Given the description of an element on the screen output the (x, y) to click on. 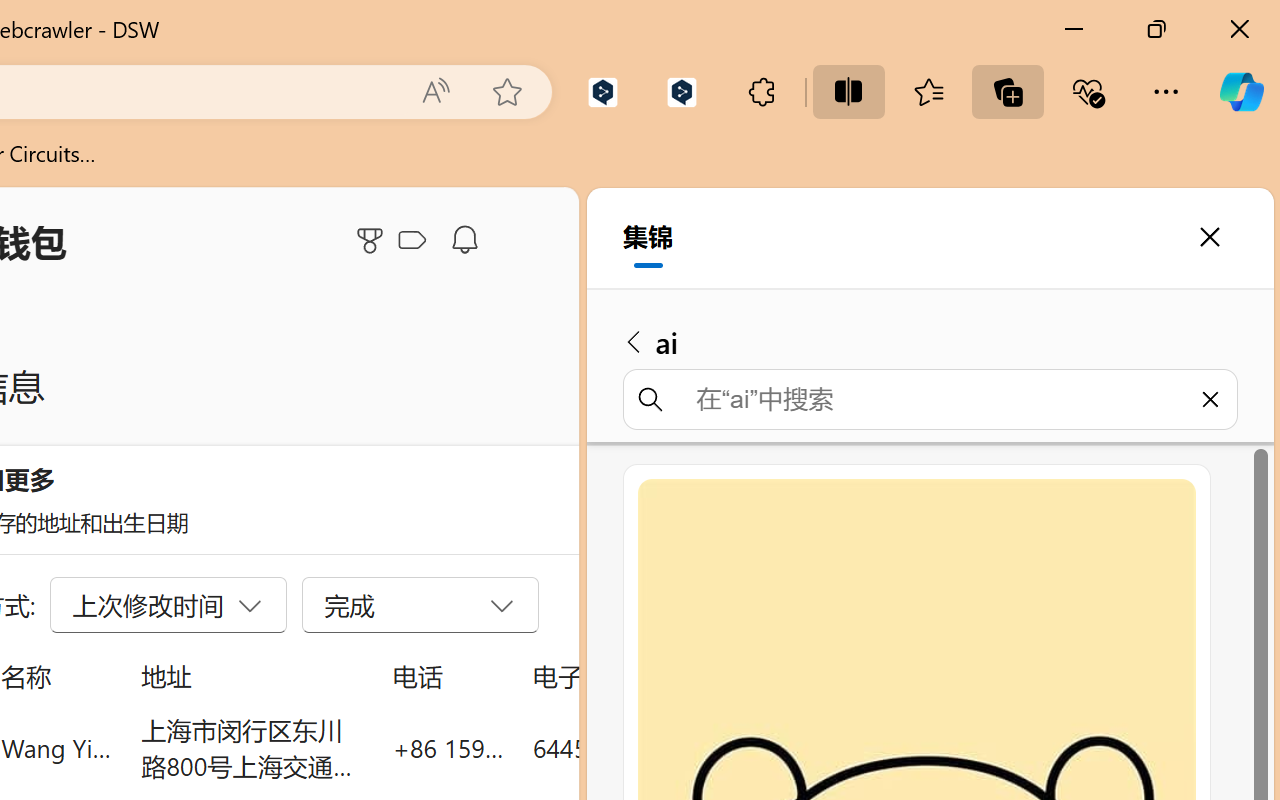
Microsoft Cashback (415, 241)
644553698@qq.com (644, 747)
Class: ___1lmltc5 f1agt3bx f12qytpq (411, 241)
